Given the description of an element on the screen output the (x, y) to click on. 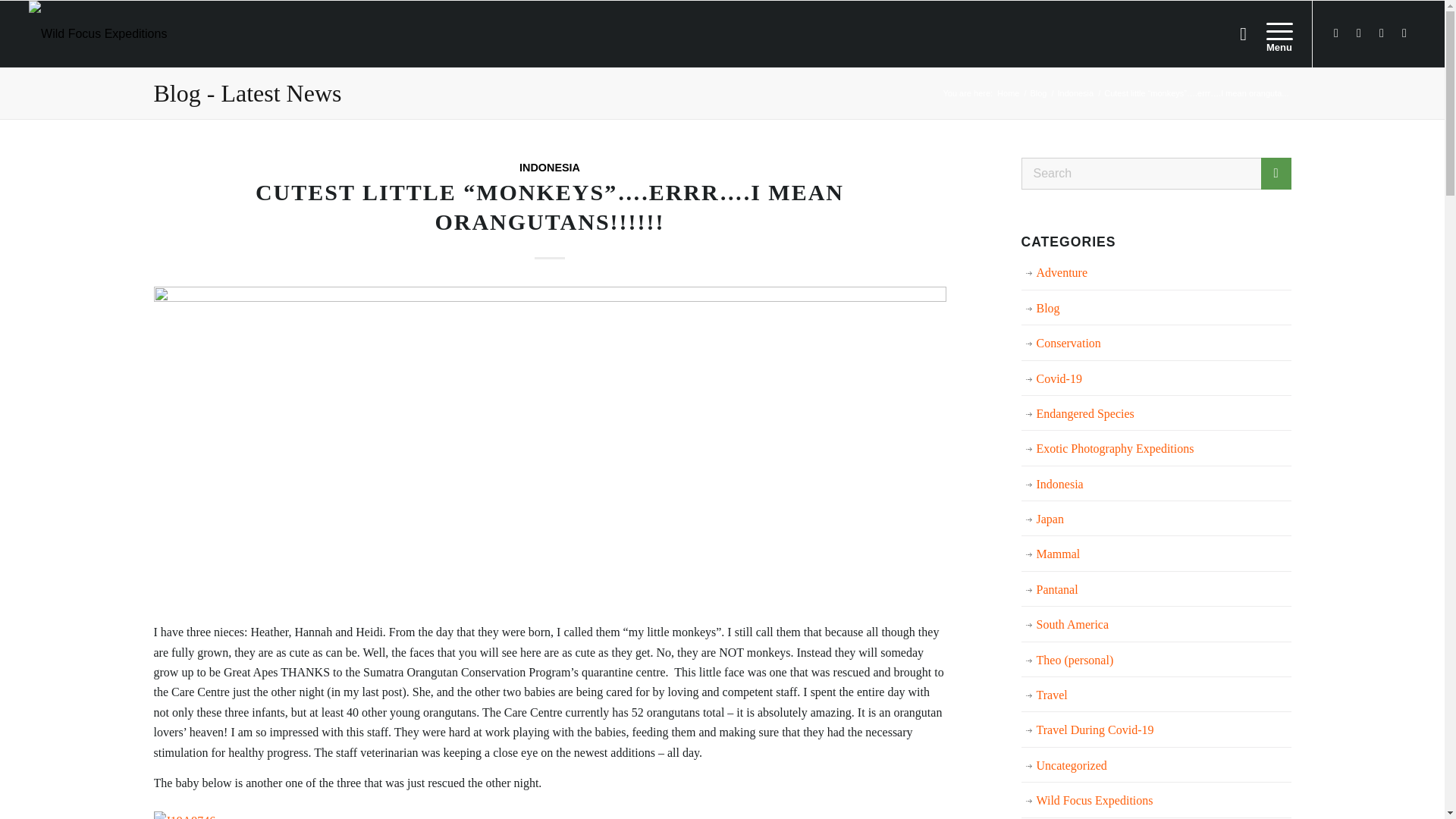
Facebook (1336, 33)
Wild Focus Expeditions (1008, 93)
Permanent Link: Blog - Latest News (246, 93)
X (1359, 33)
Pinterest (1404, 33)
Instagram (1381, 33)
